Given the description of an element on the screen output the (x, y) to click on. 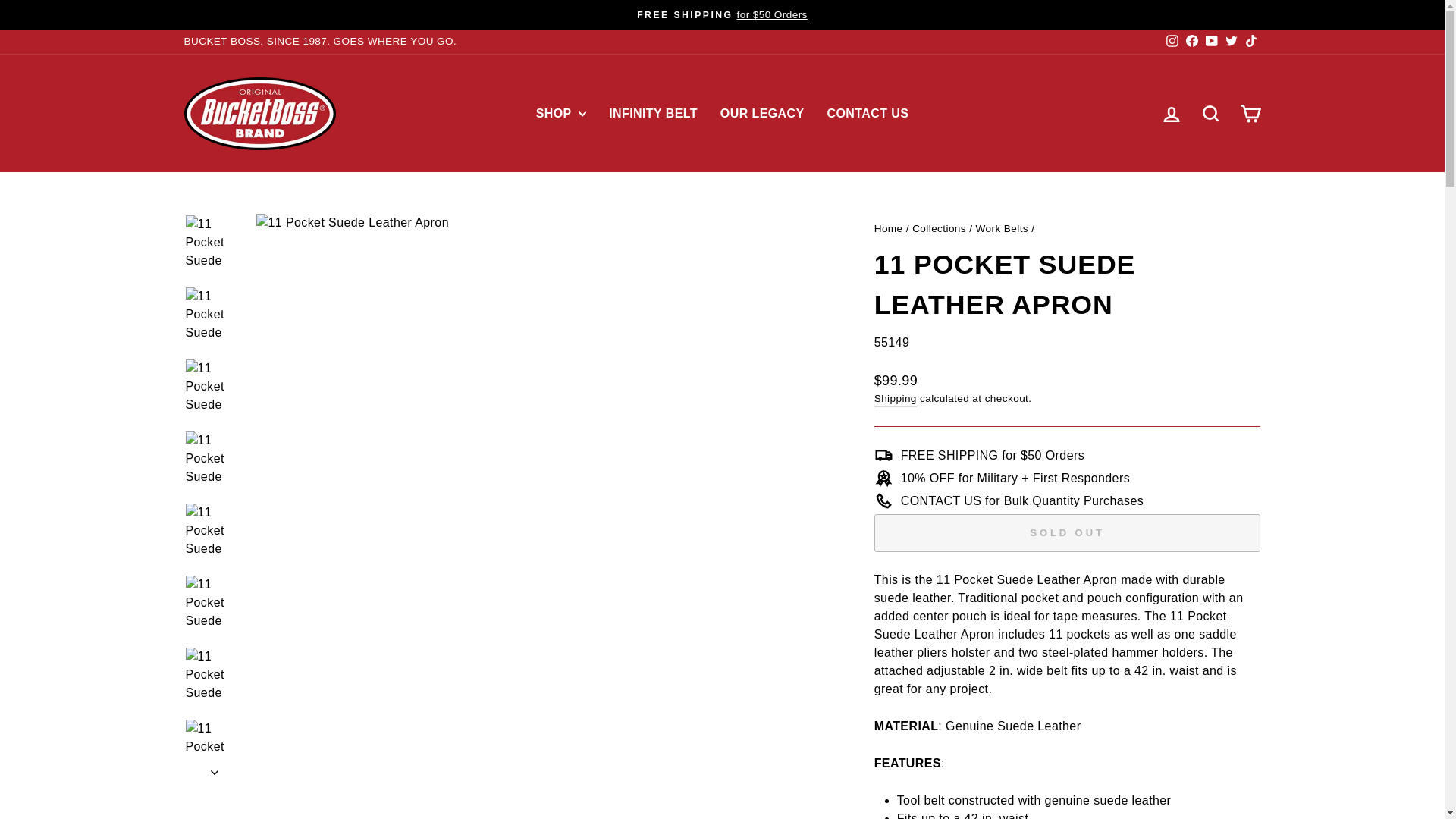
Bucket Boss on YouTube (1211, 41)
ICON-SEARCH (1210, 113)
Bucket Boss on Facebook (1190, 41)
instagram (1171, 40)
ACCOUNT (1170, 114)
Bucket Boss on TikTok (1250, 41)
Back to the frontpage (888, 228)
Bucket Boss on Instagram (1170, 41)
twitter (1231, 40)
Bucket Boss on Twitter (1230, 41)
